Given the description of an element on the screen output the (x, y) to click on. 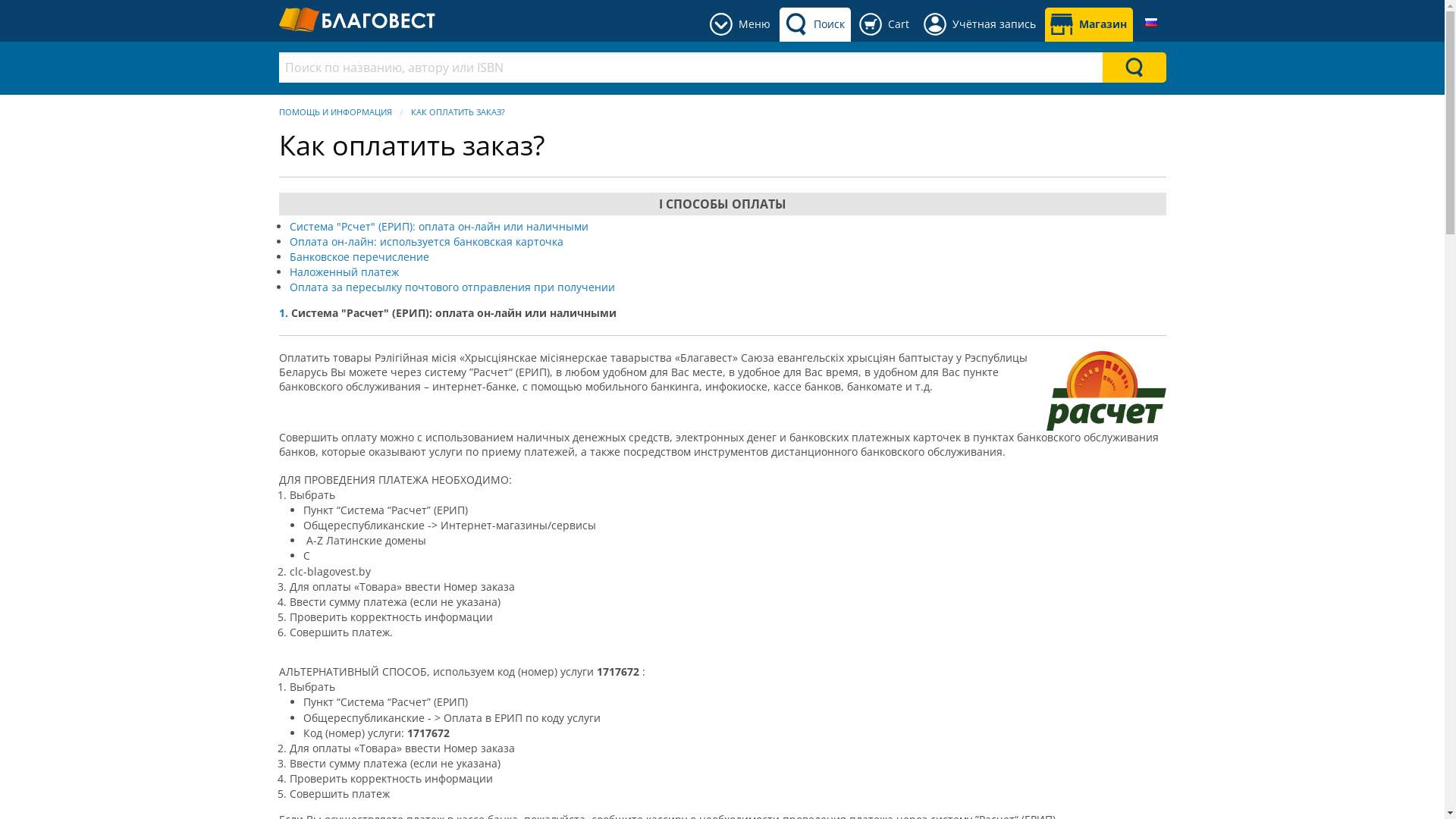
1. Element type: text (283, 312)
Cart Element type: text (884, 24)
